Given the description of an element on the screen output the (x, y) to click on. 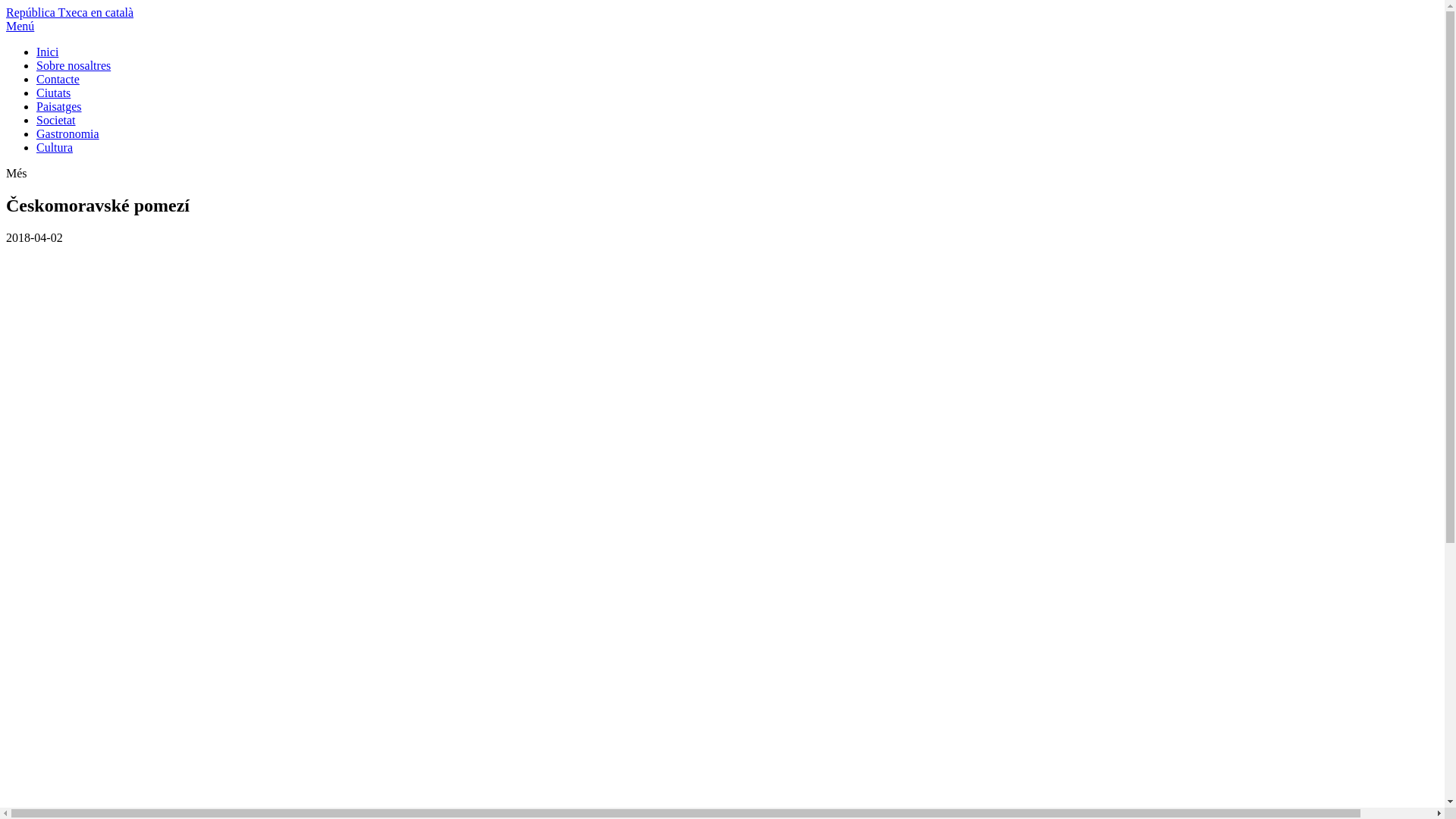
Contacte Element type: text (57, 78)
Cultura Element type: text (54, 147)
Paisatges Element type: text (58, 106)
Ciutats Element type: text (53, 92)
Inici Element type: text (47, 51)
Societat Element type: text (55, 119)
Sobre nosaltres Element type: text (73, 65)
Gastronomia Element type: text (67, 133)
